Given the description of an element on the screen output the (x, y) to click on. 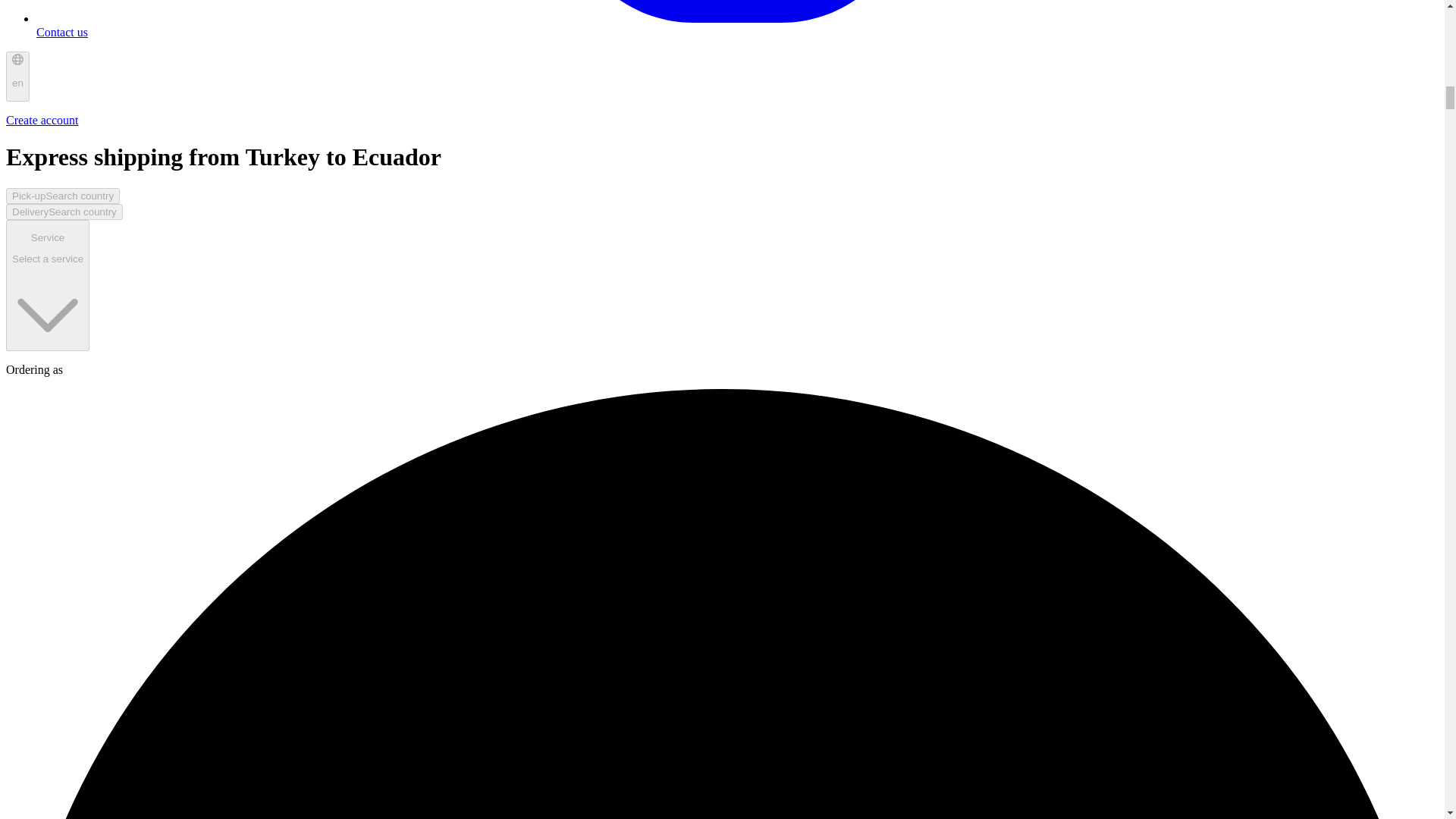
DeliverySearch country (63, 211)
Pick-upSearch country (62, 195)
en (46, 285)
